Given the description of an element on the screen output the (x, y) to click on. 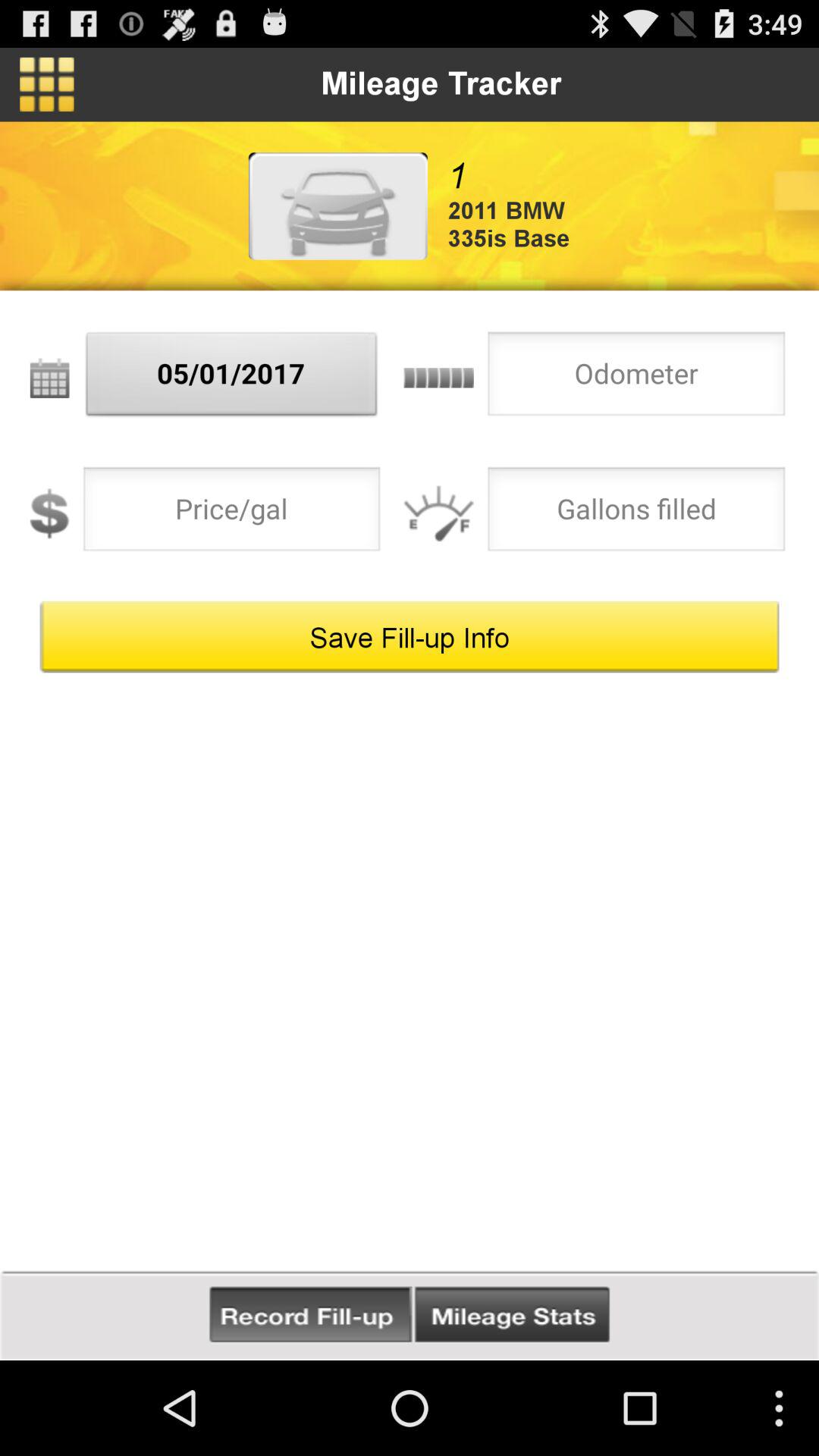
click the save fill up (409, 636)
